Given the description of an element on the screen output the (x, y) to click on. 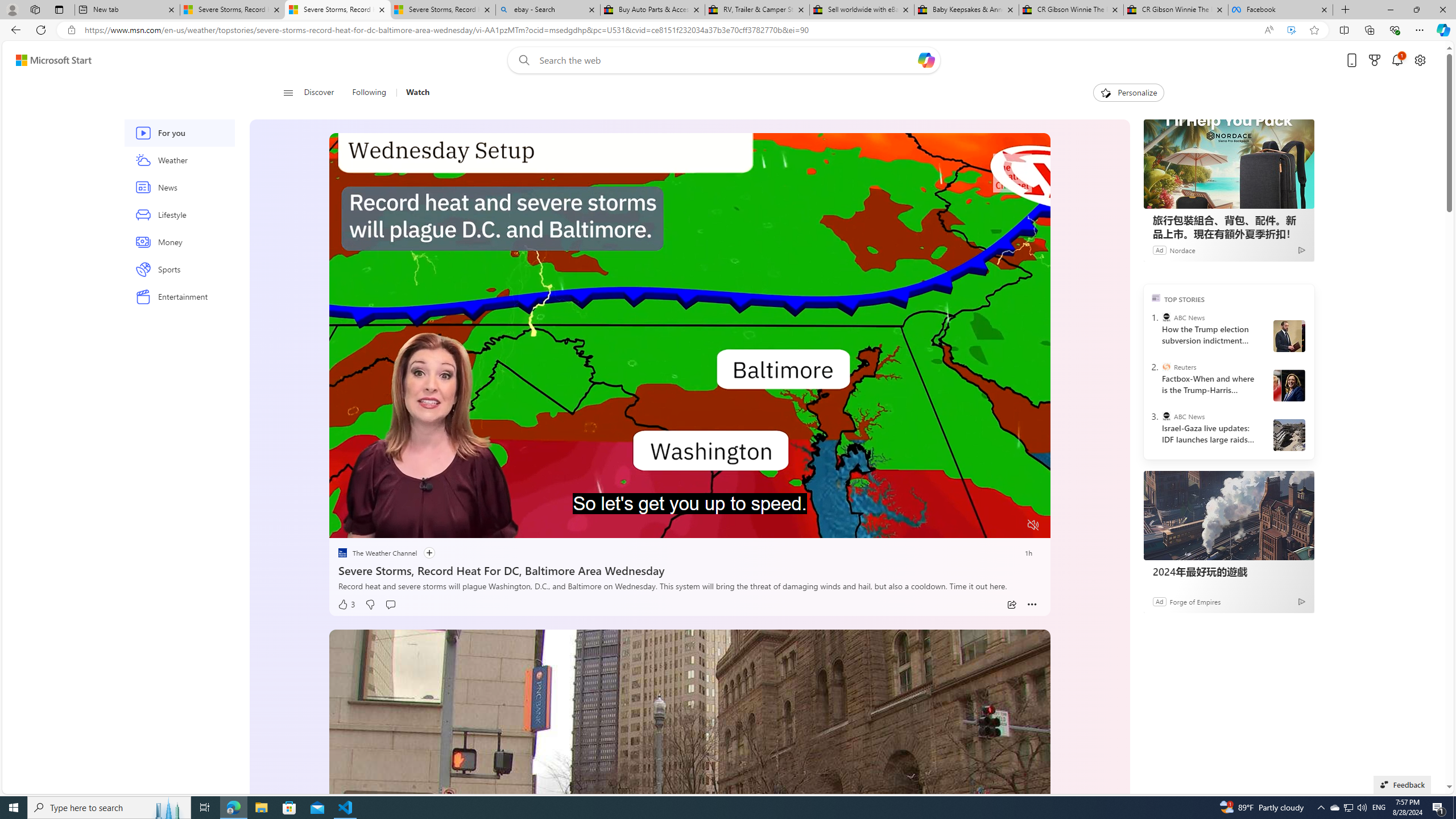
Fullscreen (1011, 525)
To get missing image descriptions, open the context menu. (368, 524)
More (1031, 604)
Skip to content (49, 59)
Enter your search term (726, 59)
Microsoft rewards (1374, 60)
Share (1010, 604)
Open navigation menu (287, 92)
